Given the description of an element on the screen output the (x, y) to click on. 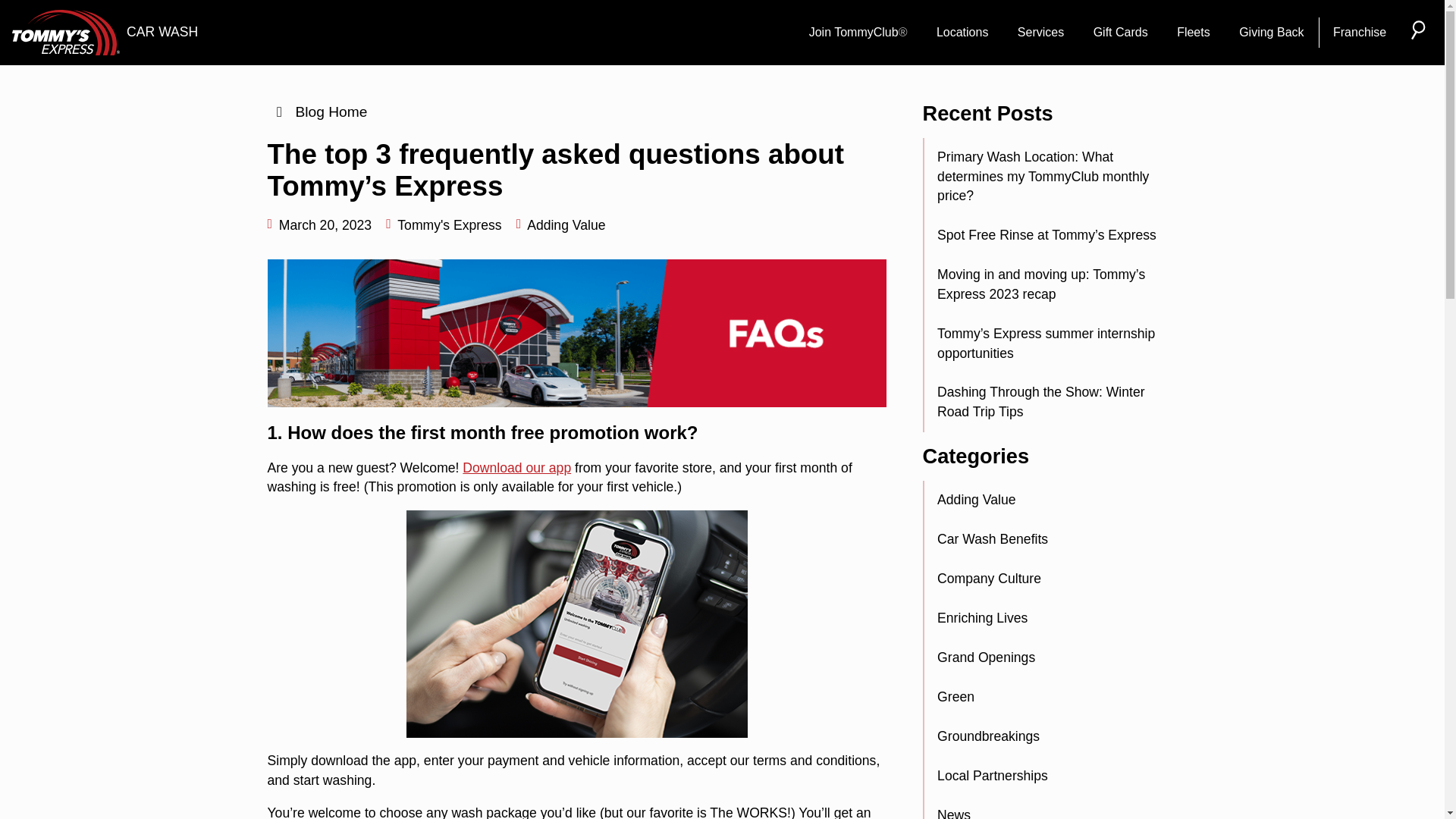
Grand Openings (1048, 658)
Dashing Through the Show: Winter Road Trip Tips (1048, 402)
Gift Cards (1120, 32)
Blog Home (316, 111)
Company Culture (1048, 578)
Groundbreakings (1048, 736)
Locations (962, 32)
Services (1040, 32)
Local Partnerships (1048, 776)
